Given the description of an element on the screen output the (x, y) to click on. 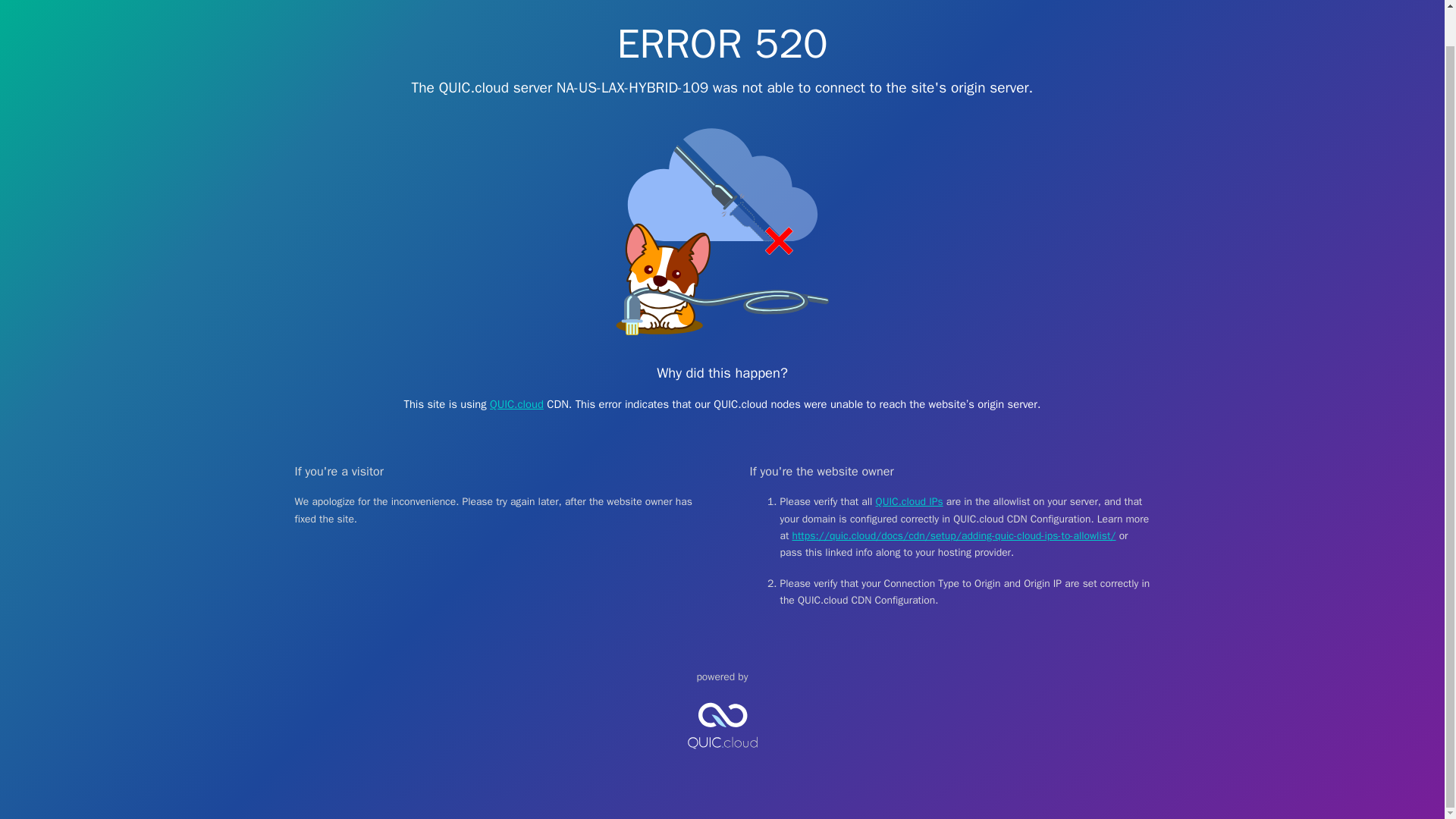
QUIC.cloud (721, 761)
QUIC.cloud IPs (909, 501)
QUIC.cloud (516, 404)
